Given the description of an element on the screen output the (x, y) to click on. 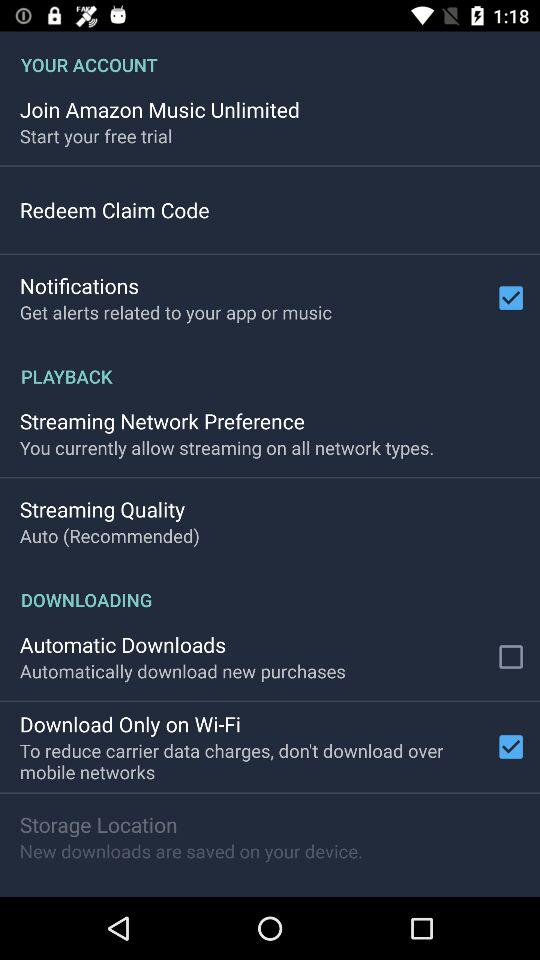
turn on app above playback app (175, 312)
